Given the description of an element on the screen output the (x, y) to click on. 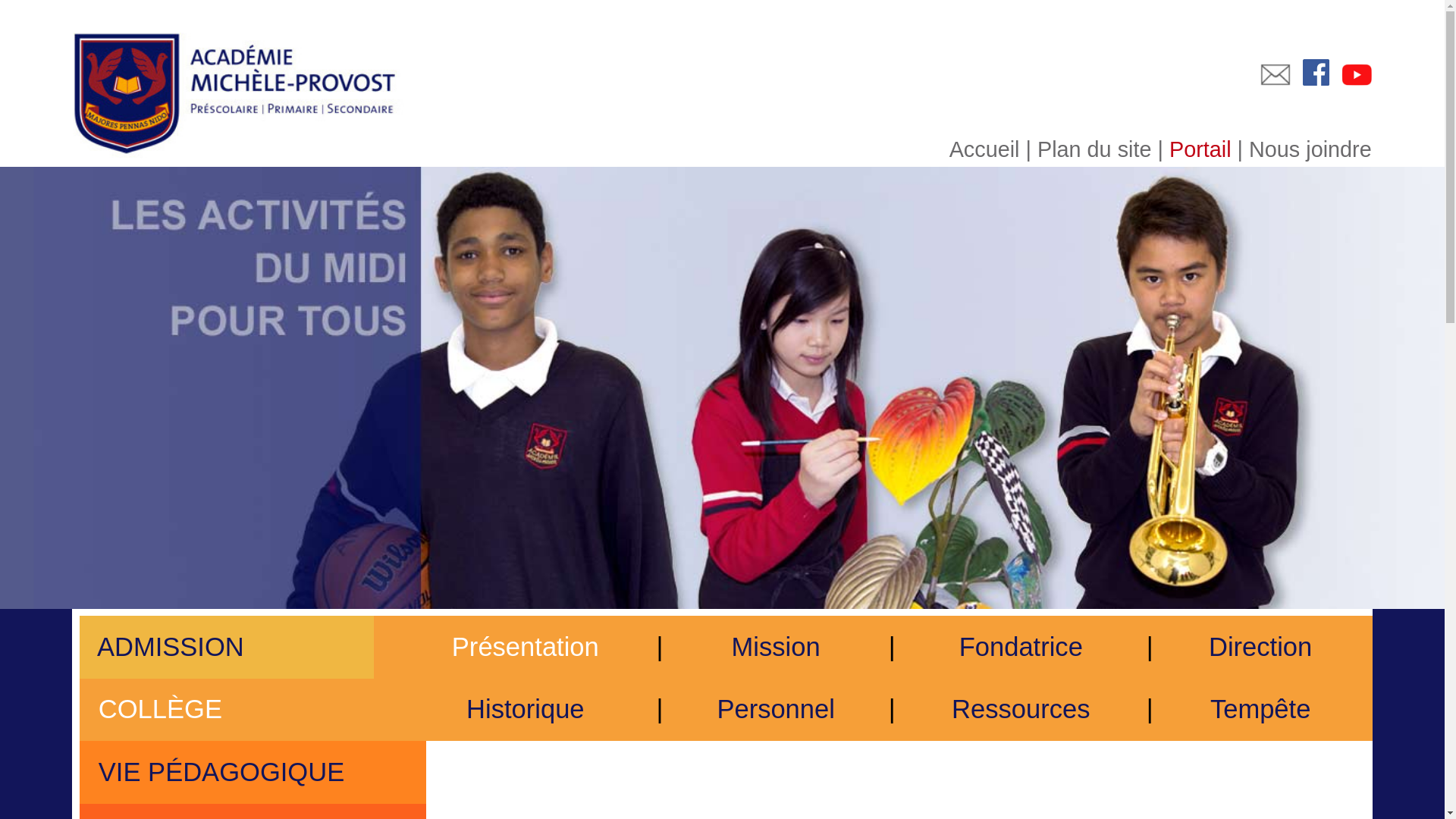
Plan du site Element type: text (1094, 149)
Fondatrice Element type: text (1020, 646)
Historique Element type: text (525, 708)
Direction Element type: text (1259, 646)
Ressources Element type: text (1020, 708)
Mission Element type: text (775, 646)
Nous joindre Element type: text (1309, 149)
Accueil Element type: text (984, 149)
 ADMISSION Element type: text (167, 646)
Portail Element type: text (1200, 149)
Personnel Element type: text (775, 708)
